Given the description of an element on the screen output the (x, y) to click on. 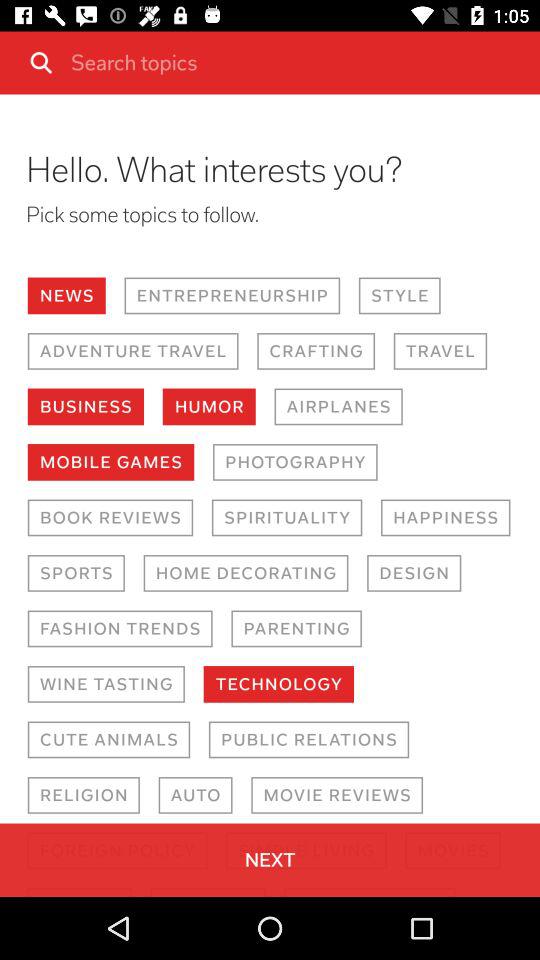
open item to the right of the humor icon (338, 406)
